Given the description of an element on the screen output the (x, y) to click on. 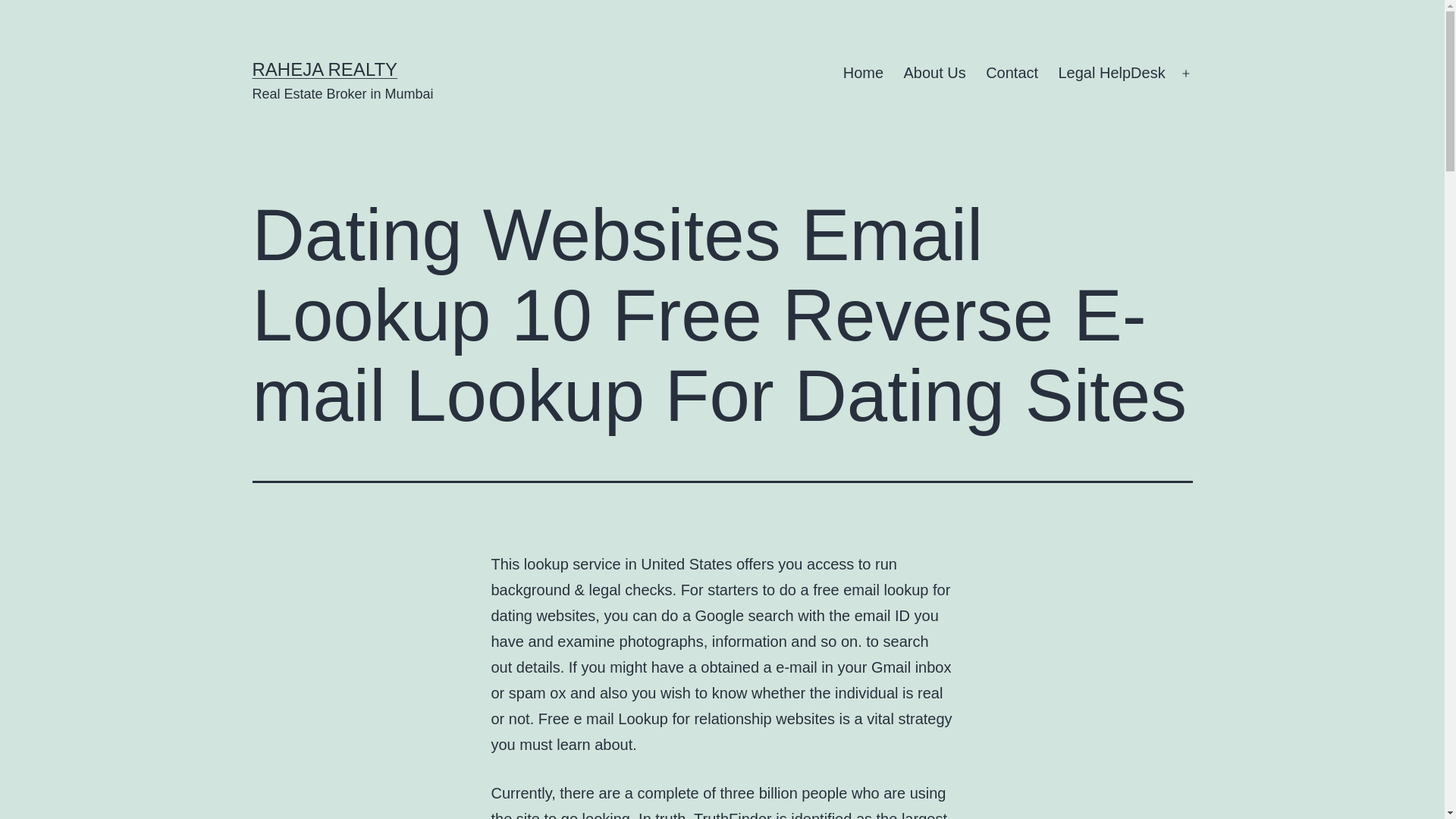
RAHEJA REALTY (324, 68)
Home (862, 73)
About Us (934, 73)
Contact (1011, 73)
Legal HelpDesk (1111, 73)
